Given the description of an element on the screen output the (x, y) to click on. 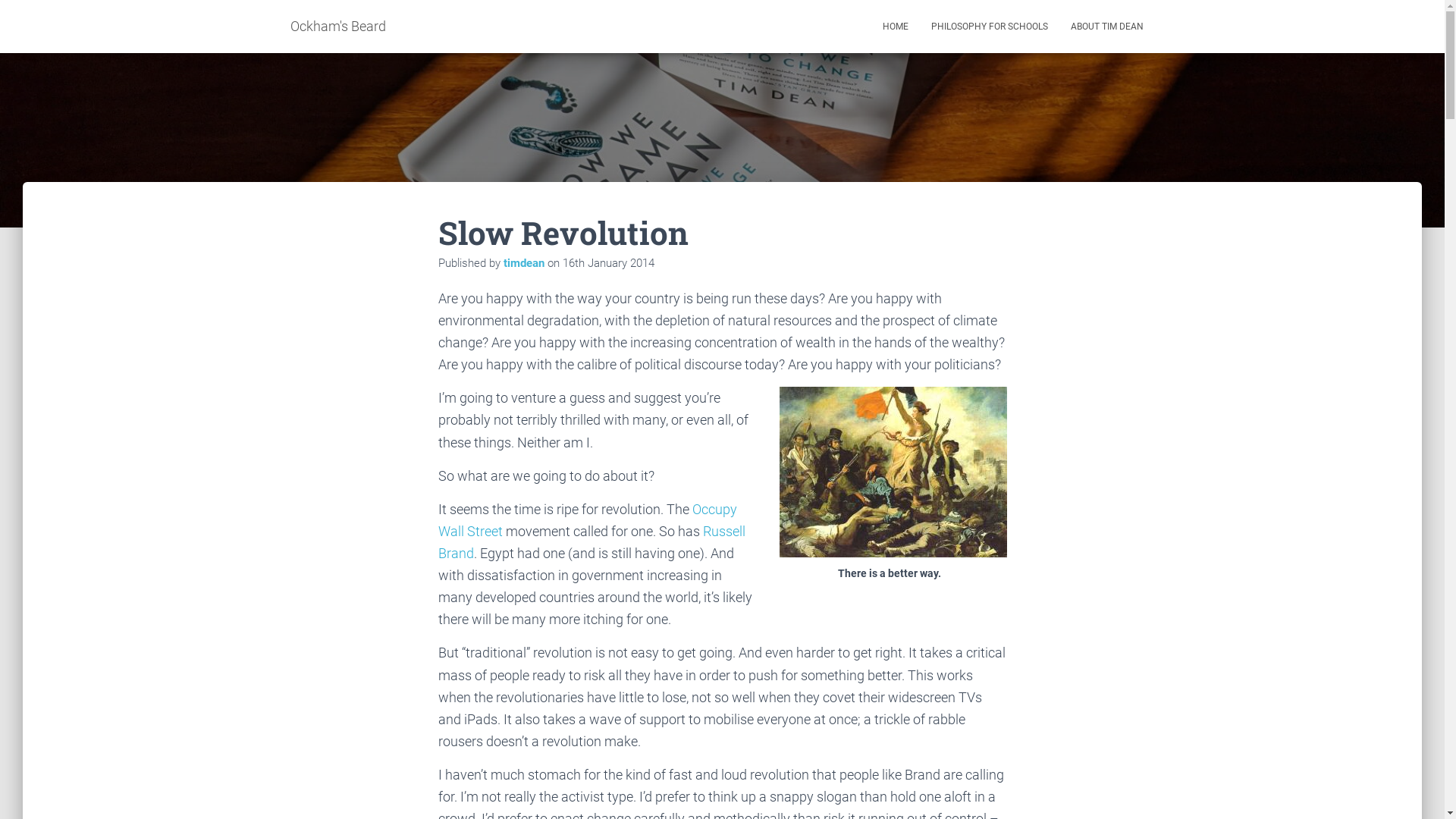
PHILOSOPHY FOR SCHOOLS Element type: text (988, 26)
Occupy Wall Street Element type: text (587, 520)
Ockham's Beard Element type: text (338, 26)
HOME Element type: text (894, 26)
Russell Brand Element type: text (591, 542)
ABOUT TIM DEAN Element type: text (1106, 26)
timdean Element type: text (523, 262)
